Given the description of an element on the screen output the (x, y) to click on. 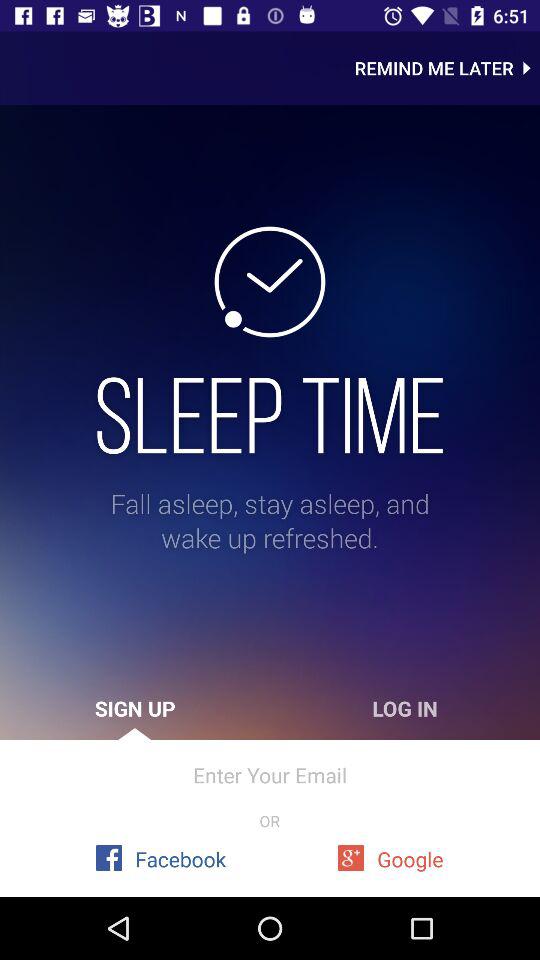
turn off the icon above fall asleep stay icon (270, 415)
